Given the description of an element on the screen output the (x, y) to click on. 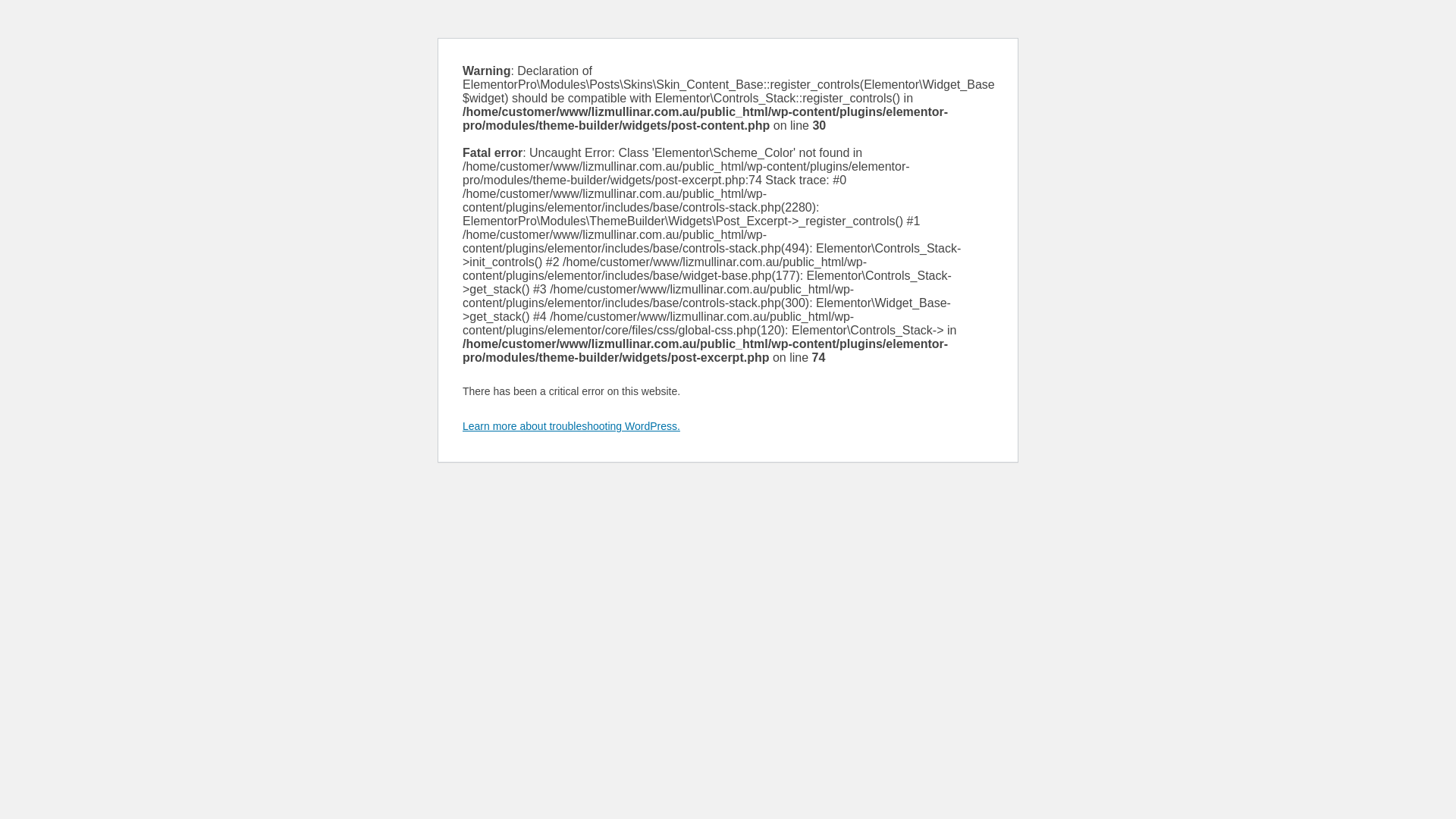
Learn more about troubleshooting WordPress. Element type: text (571, 426)
